Given the description of an element on the screen output the (x, y) to click on. 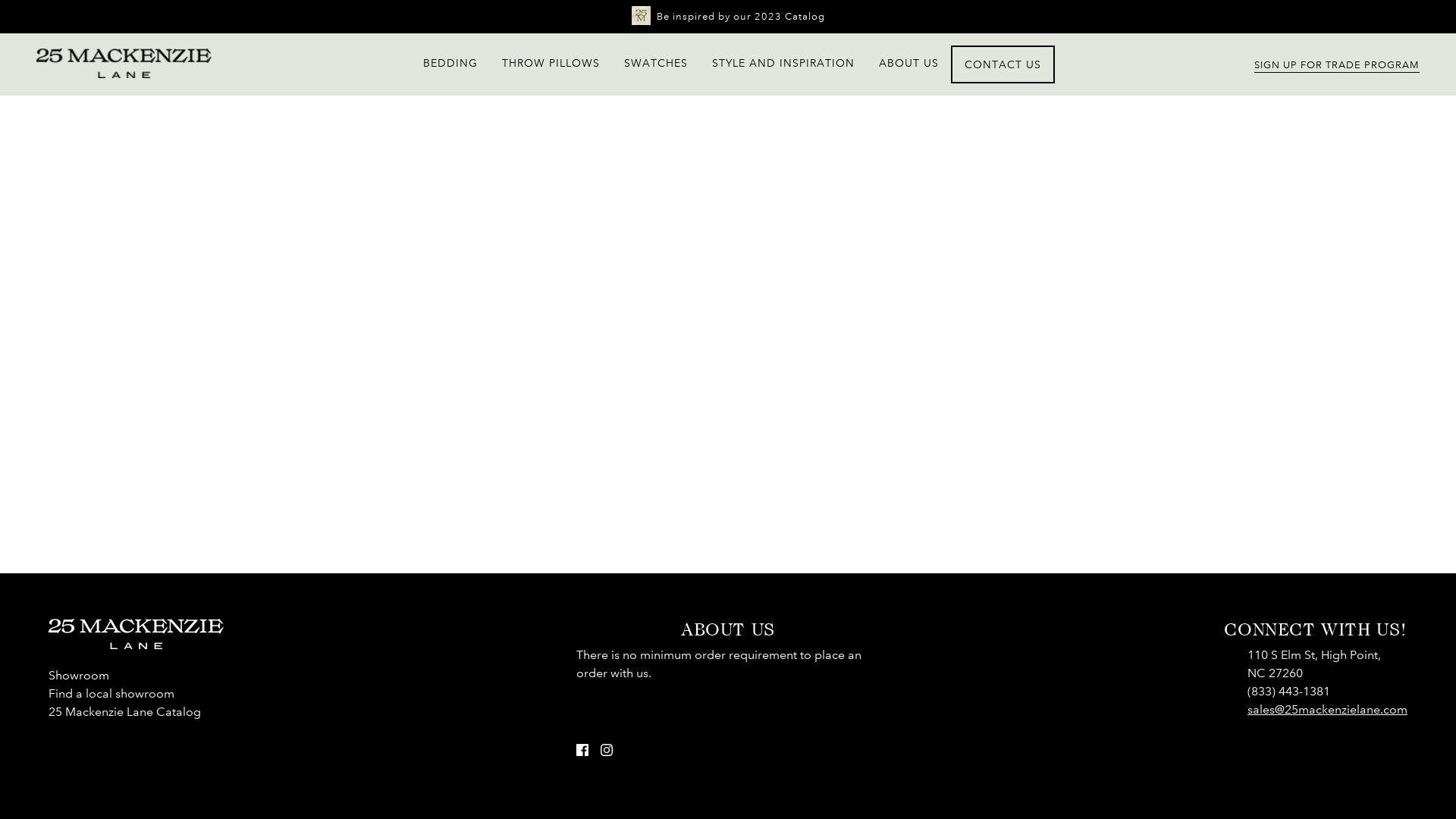
SIGN UP FOR TRADE PROGRAM Element type: text (1336, 64)
STYLE AND INSPIRATION Element type: text (782, 62)
SWATCHES Element type: text (655, 62)
THROW PILLOWS Element type: text (550, 62)
sales@25mackenzielane.com Element type: text (1327, 709)
Showroom Element type: text (78, 675)
25 Mackenzie Lane Element type: hover (135, 644)
ABOUT US Element type: text (908, 62)
CONTACT US Element type: text (1002, 64)
BEDDING Element type: text (450, 62)
Find a local showroom Element type: text (111, 693)
25 Mackenzie Lane Catalog Element type: text (124, 711)
25 Mackenzie Lane Element type: hover (123, 73)
